Given the description of an element on the screen output the (x, y) to click on. 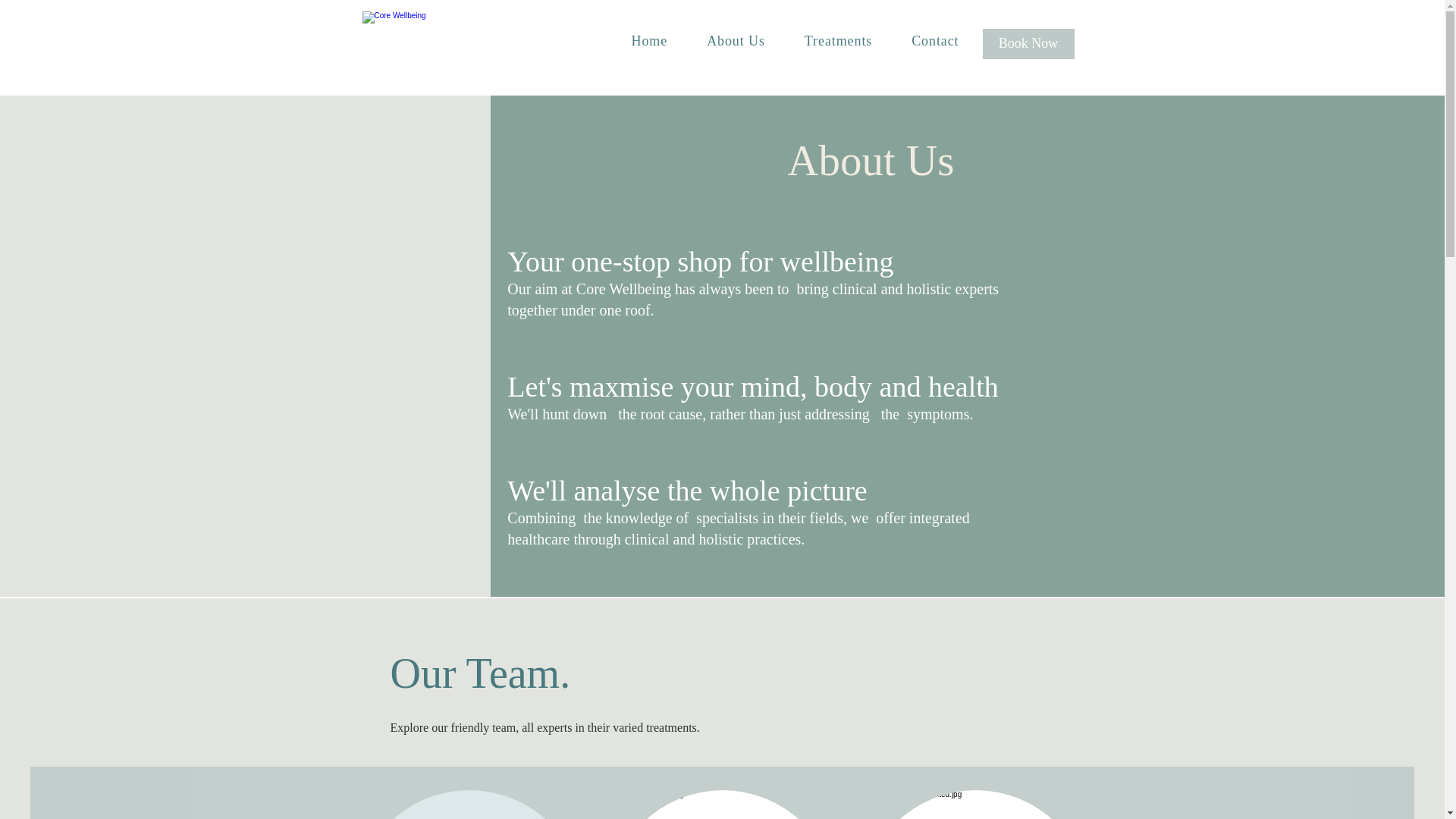
Book Now (1028, 43)
About Us (735, 40)
Home (649, 40)
Contact (935, 40)
